Given the description of an element on the screen output the (x, y) to click on. 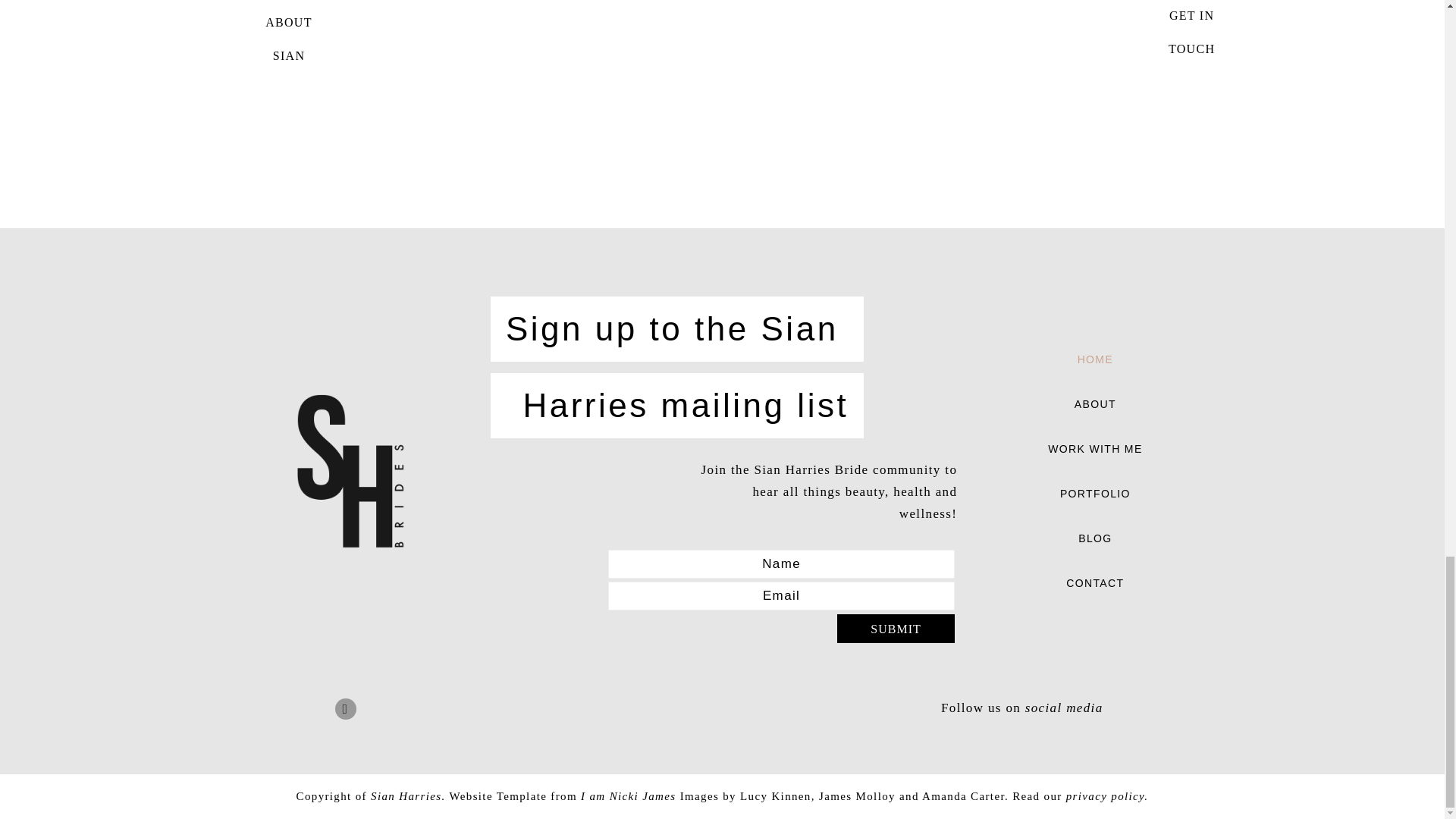
instagram (345, 708)
I am Nicki James (627, 796)
WORK WITH ME (1094, 448)
Lucy Kinnen (774, 796)
SUBMIT (896, 628)
ABOUT (1094, 404)
BLOG (1094, 538)
privacy policy (1104, 796)
SHsubmark (350, 470)
HOME (1094, 359)
CONTACT (289, 38)
PORTFOLIO (1094, 583)
Amanda Carter (1094, 493)
James Molloy (962, 796)
